Given the description of an element on the screen output the (x, y) to click on. 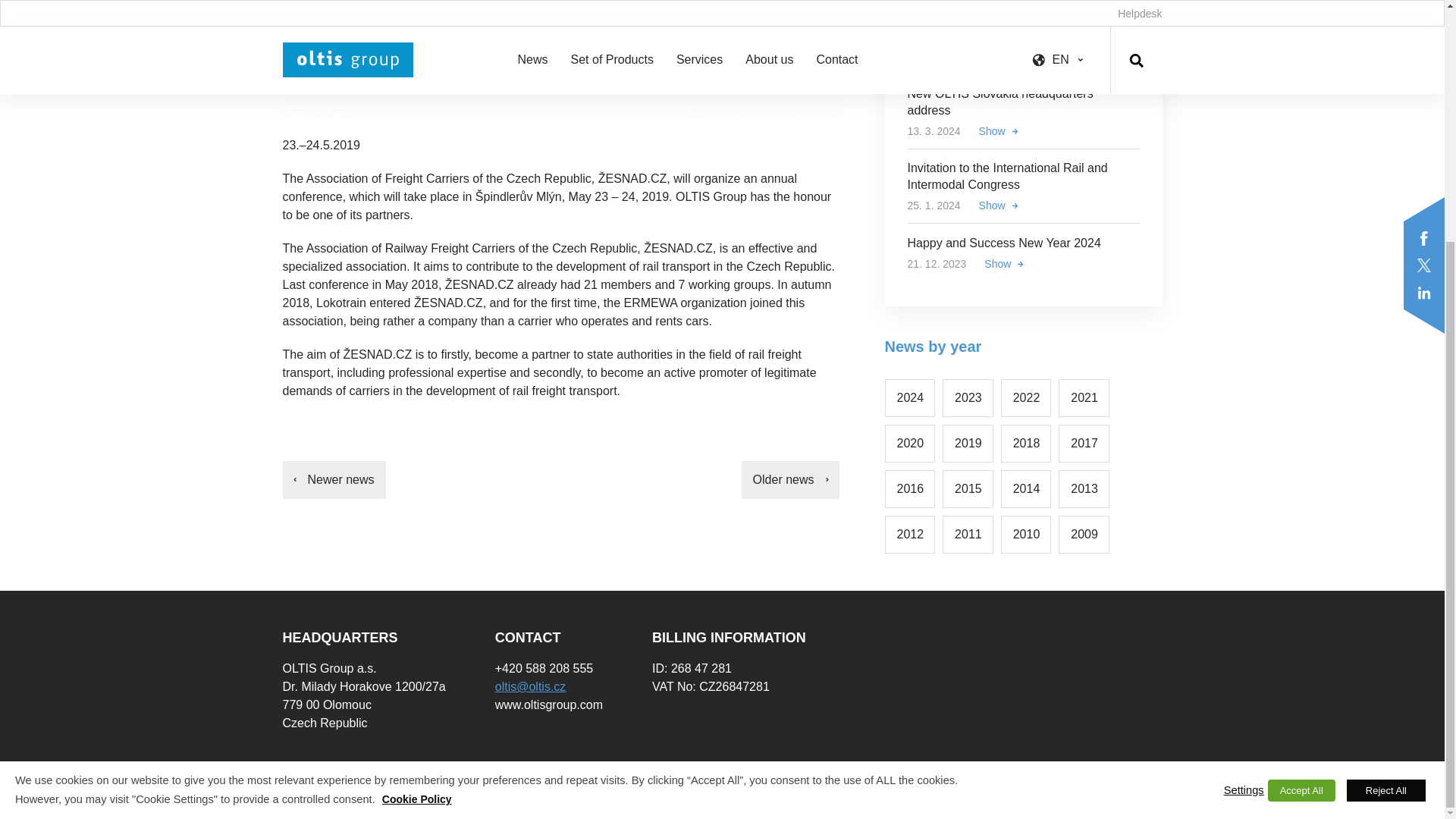
Older news (790, 479)
Newer news (333, 479)
